Given the description of an element on the screen output the (x, y) to click on. 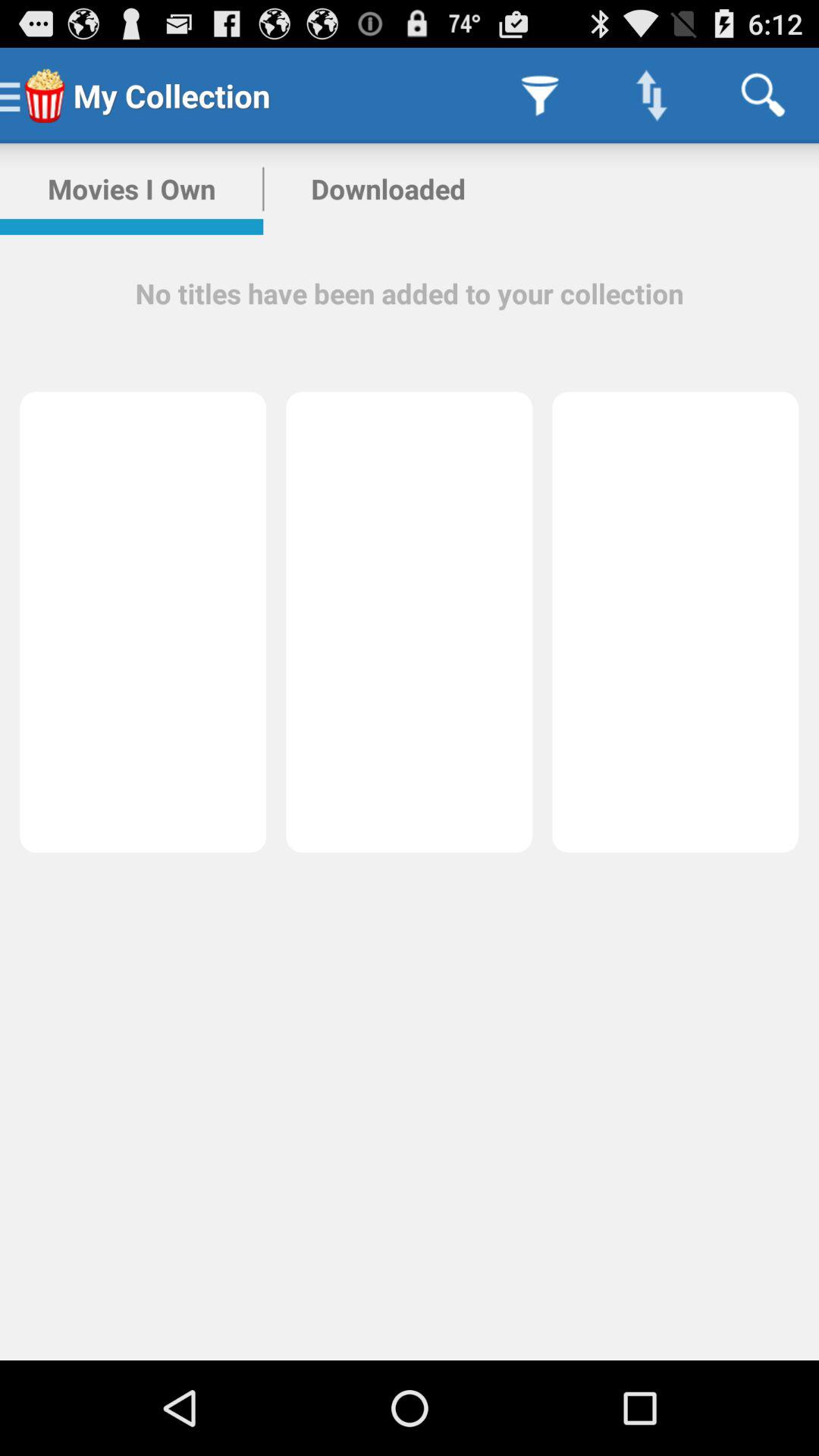
choose icon to the left of downloaded (131, 188)
